Given the description of an element on the screen output the (x, y) to click on. 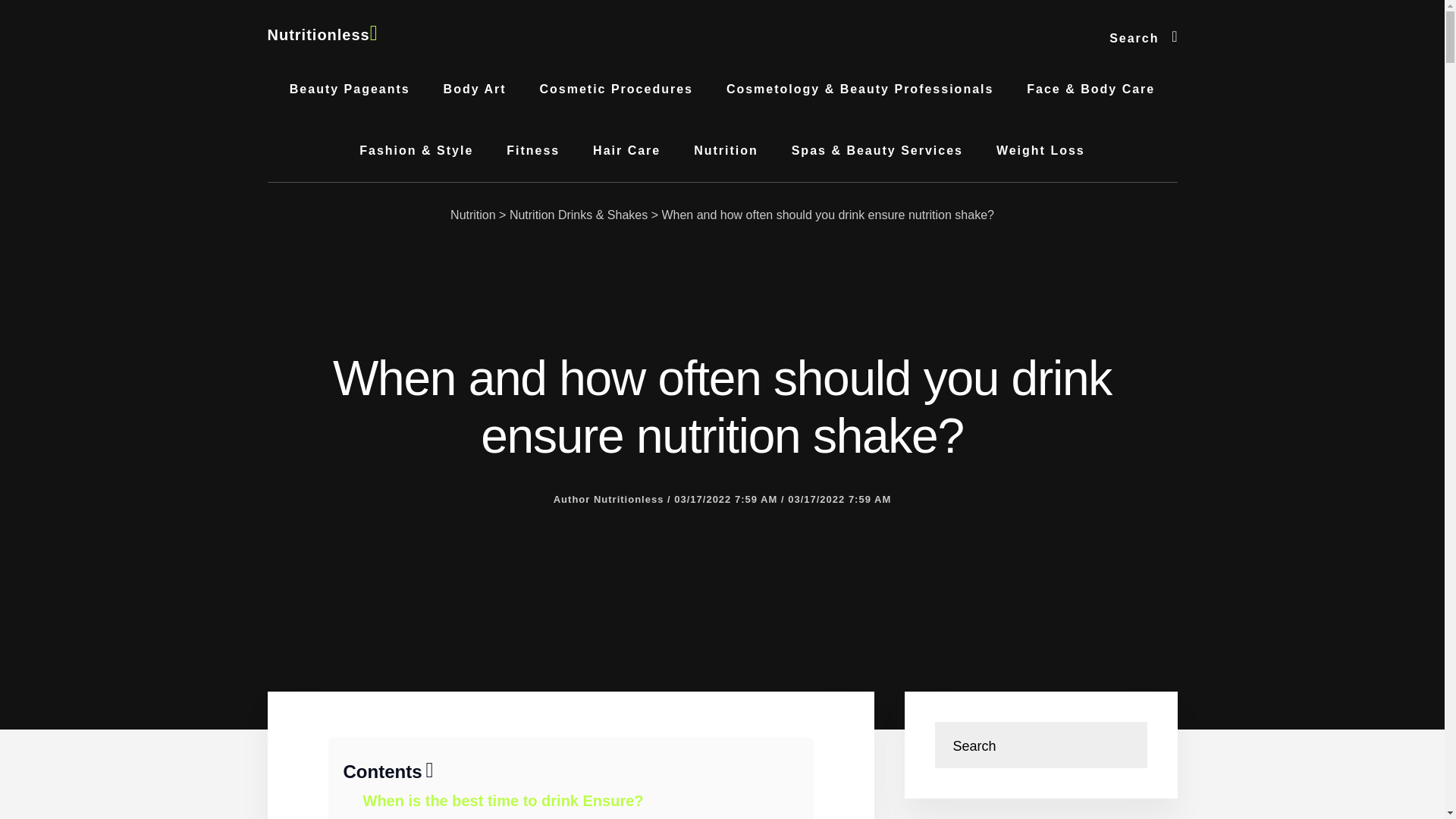
Hair Care (626, 150)
Nutrition (472, 214)
Body Art (474, 89)
Beauty Pageants (350, 89)
Weight Loss (1040, 150)
When is the best time to drink Ensure? (502, 800)
Fitness (533, 150)
Nutrition (725, 150)
Cosmetic Procedures (615, 89)
Nutritionless (321, 34)
